Given the description of an element on the screen output the (x, y) to click on. 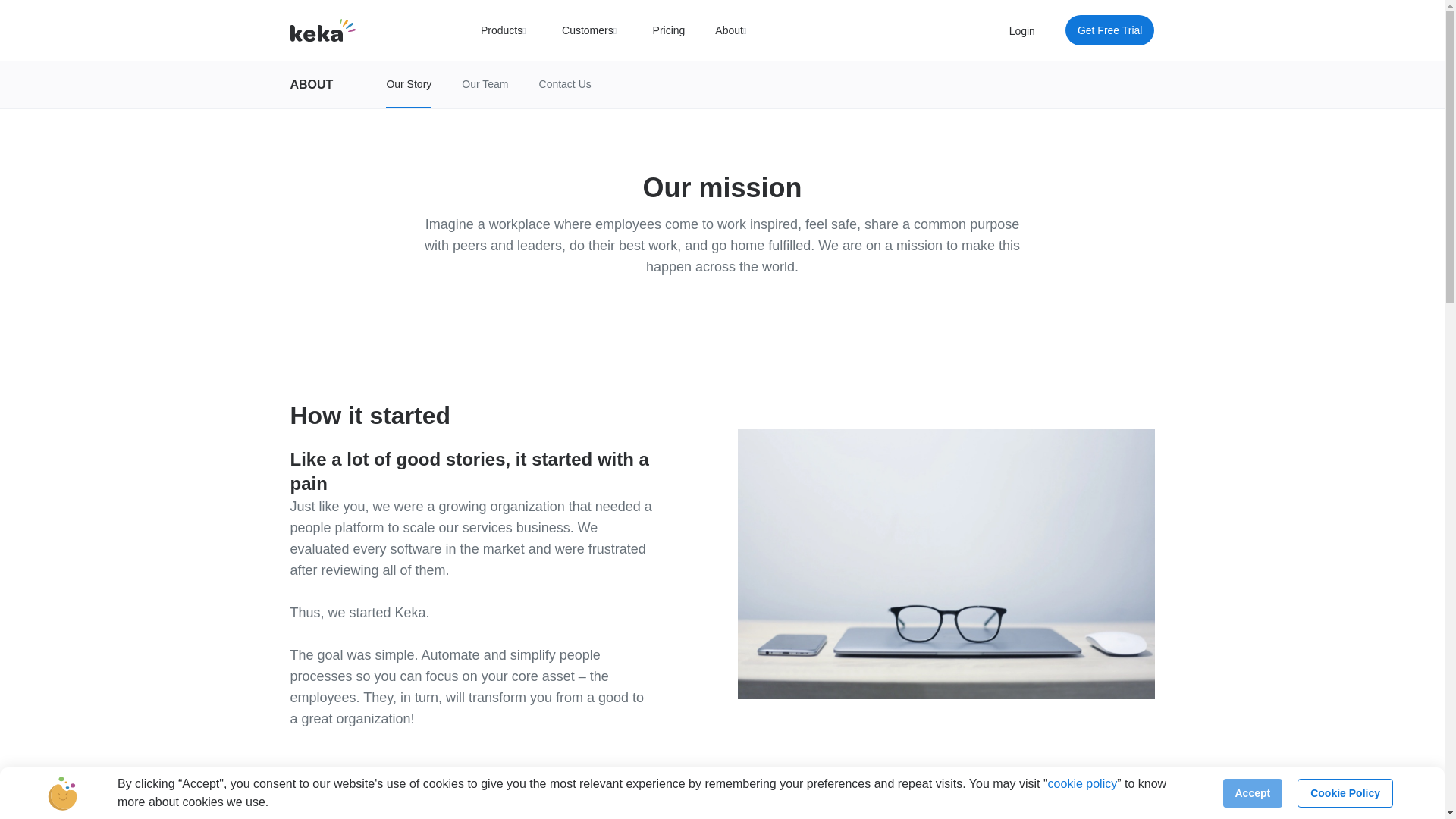
Products (505, 30)
Login (1022, 30)
Pricing (668, 30)
Contact Us (564, 84)
About (732, 30)
Customers (592, 30)
Get Free Trial (1109, 30)
Our Team (484, 84)
Our Story (407, 84)
